Given the description of an element on the screen output the (x, y) to click on. 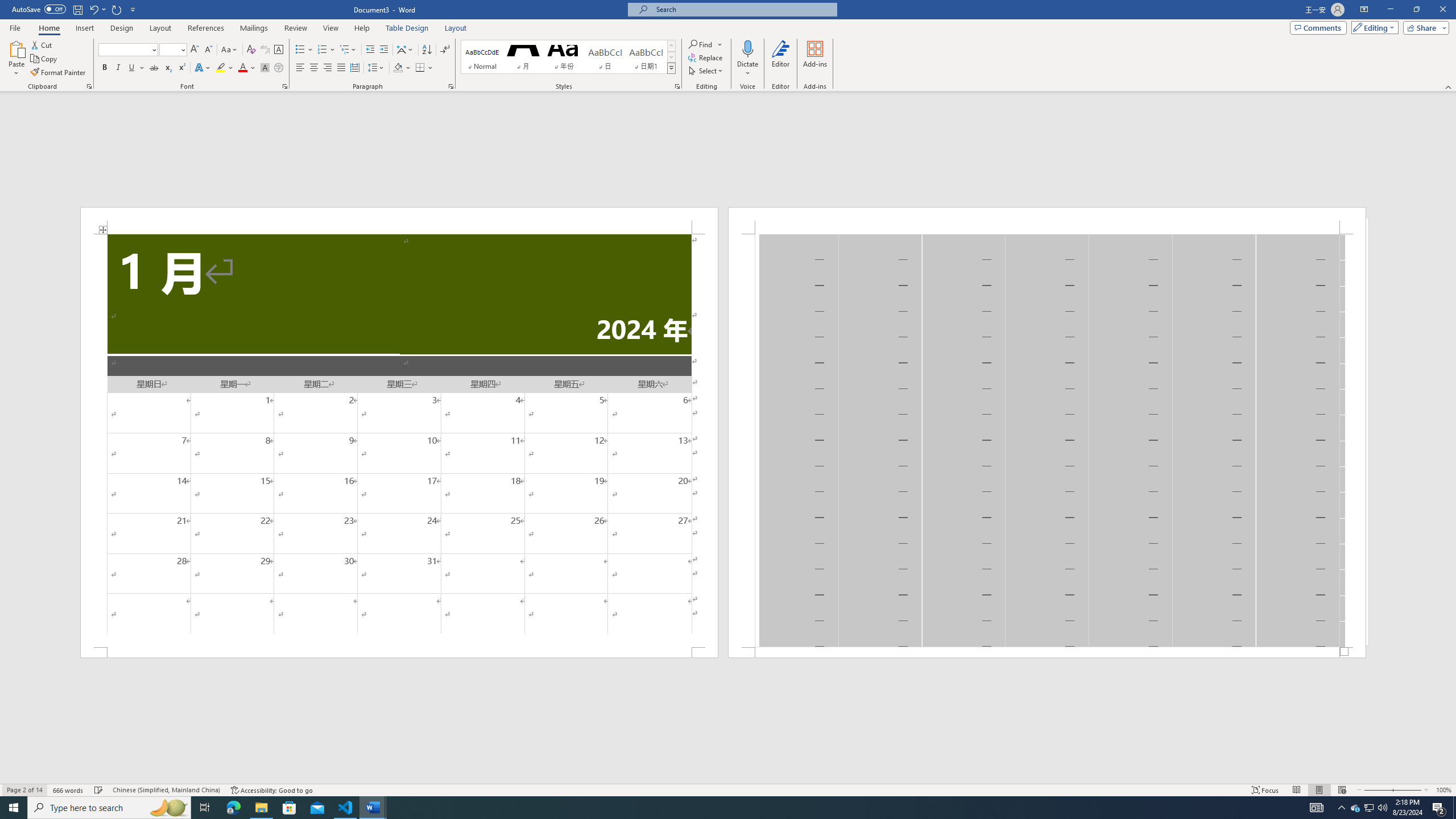
Center (313, 67)
Font... (285, 85)
